Given the description of an element on the screen output the (x, y) to click on. 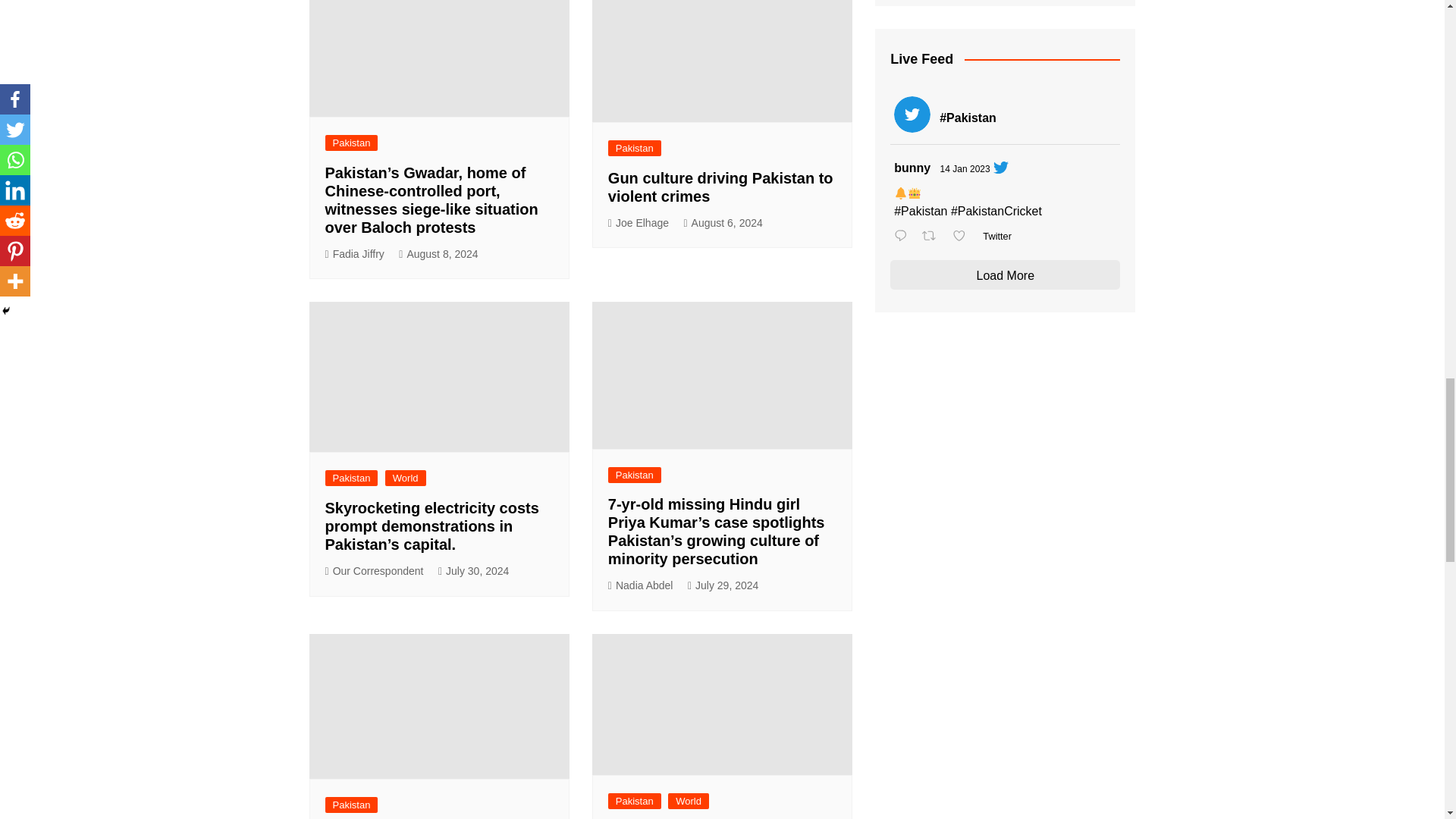
August 8, 2024 (437, 253)
Pakistan (634, 148)
Fadia Jiffry (354, 253)
Pakistan (350, 142)
